Given the description of an element on the screen output the (x, y) to click on. 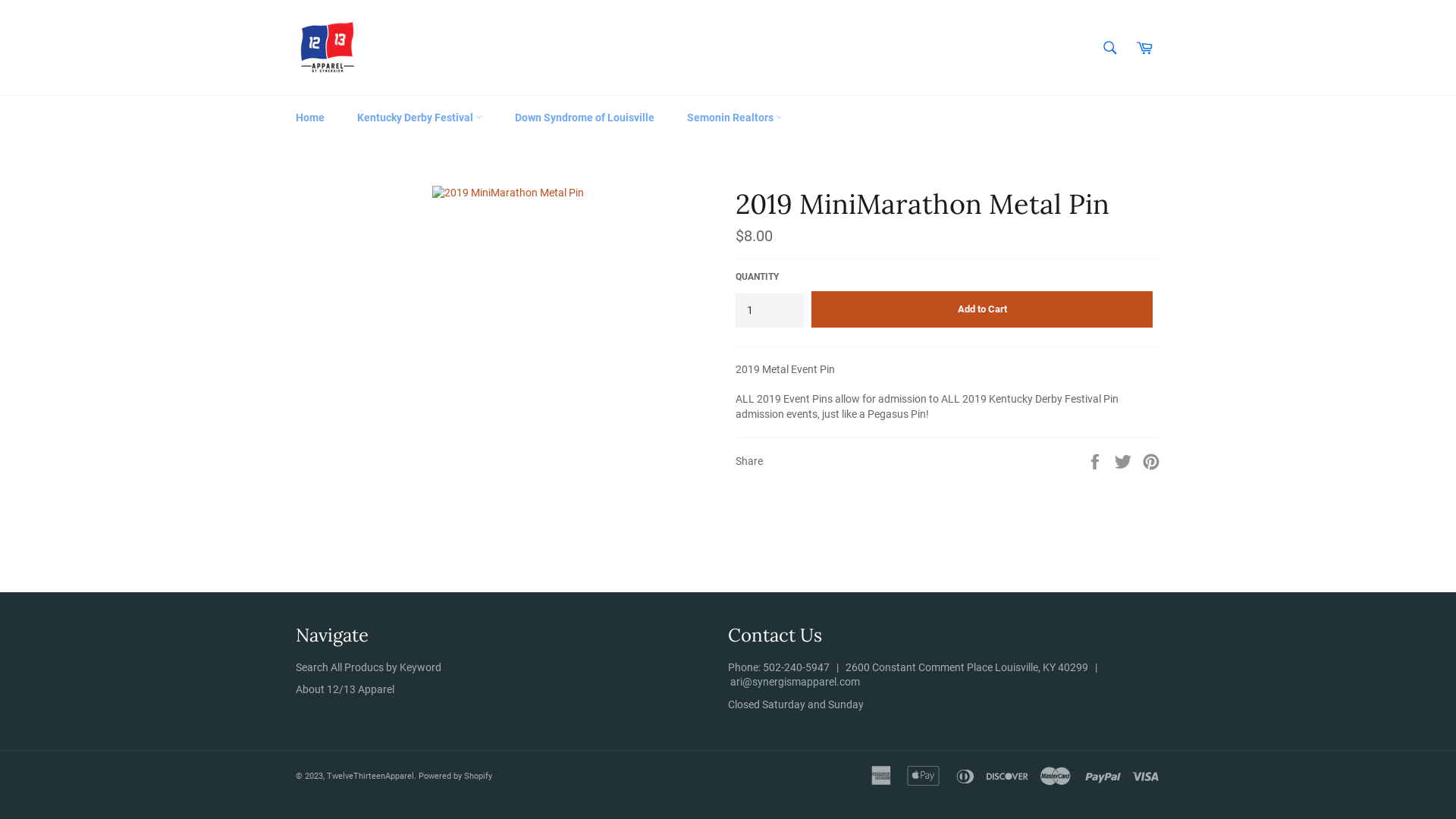
Pin on Pinterest Element type: text (1151, 461)
Down Syndrome of Louisville Element type: text (584, 117)
Semonin Realtors Element type: text (734, 117)
Home Element type: text (309, 117)
Search All Producs by Keyword Element type: text (368, 667)
Cart Element type: text (1144, 47)
Search Element type: text (1110, 47)
About 12/13 Apparel Element type: text (344, 689)
Add to Cart Element type: text (981, 309)
Kentucky Derby Festival Element type: text (419, 117)
Tweet on Twitter Element type: text (1123, 461)
TwelveThirteenApparel Element type: text (370, 776)
Share on Facebook Element type: text (1095, 461)
Powered by Shopify Element type: text (455, 776)
